Given the description of an element on the screen output the (x, y) to click on. 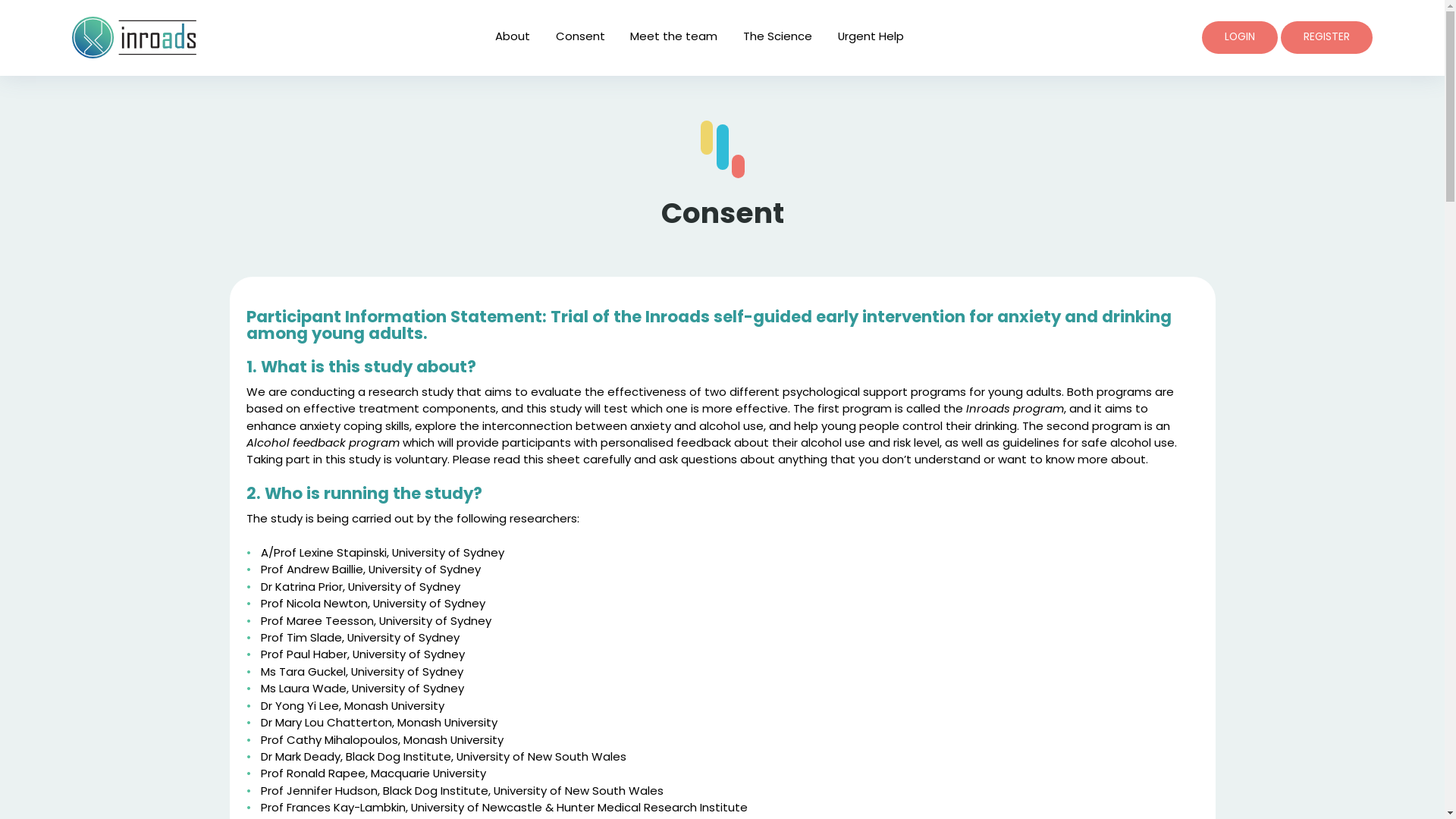
The Science Element type: text (777, 37)
Urgent Help Element type: text (870, 37)
REGISTER Element type: text (1326, 37)
Consent Element type: text (580, 37)
Meet the team Element type: text (673, 37)
About Element type: text (512, 37)
LOGIN Element type: text (1239, 37)
